Given the description of an element on the screen output the (x, y) to click on. 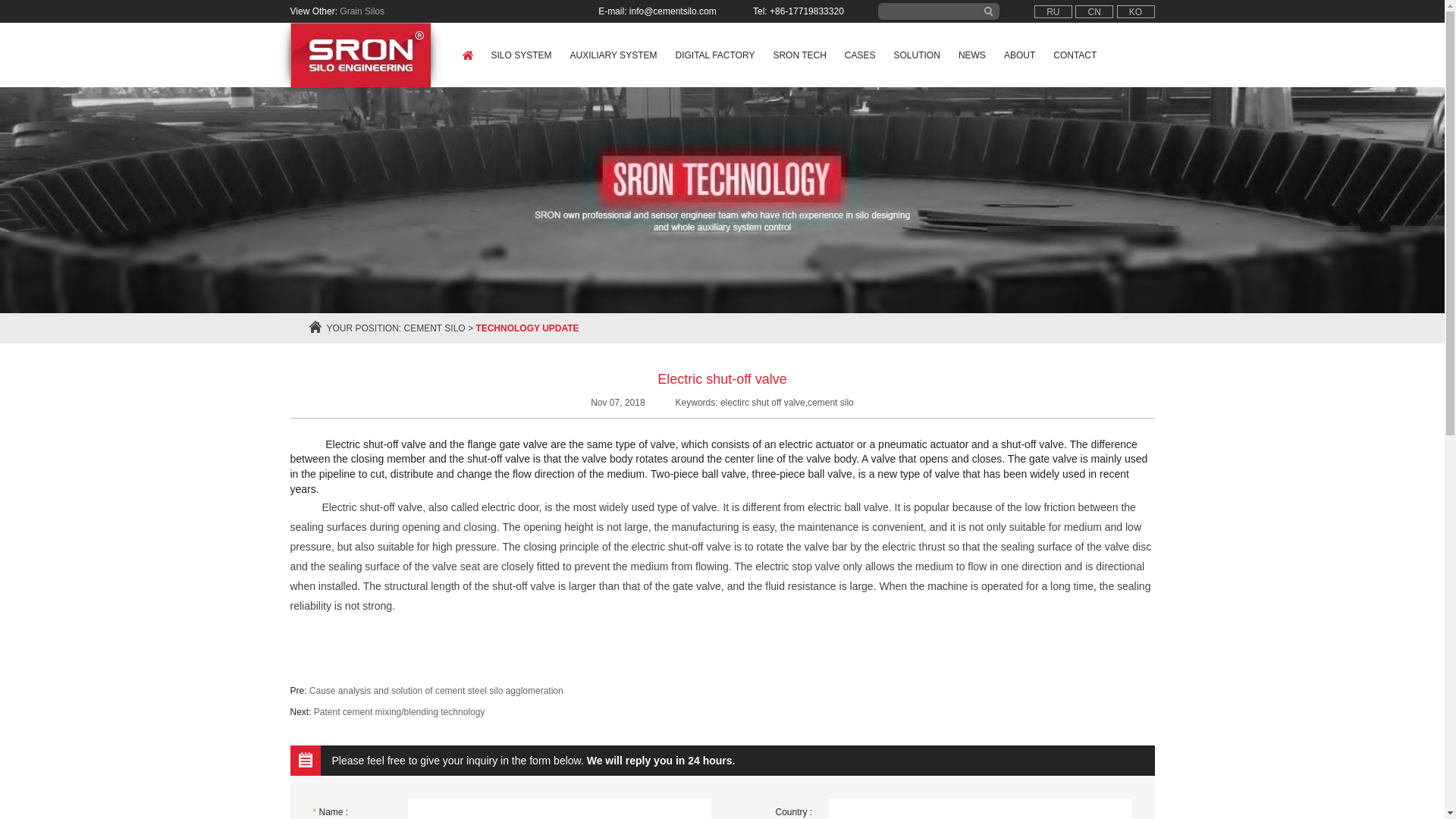
CN (1094, 11)
DIGITAL FACTORY (713, 54)
Grain Silos (361, 10)
SILO SYSTEM (520, 54)
RU (1052, 11)
AUXILIARY SYSTEM (613, 54)
KO (1135, 11)
